Given the description of an element on the screen output the (x, y) to click on. 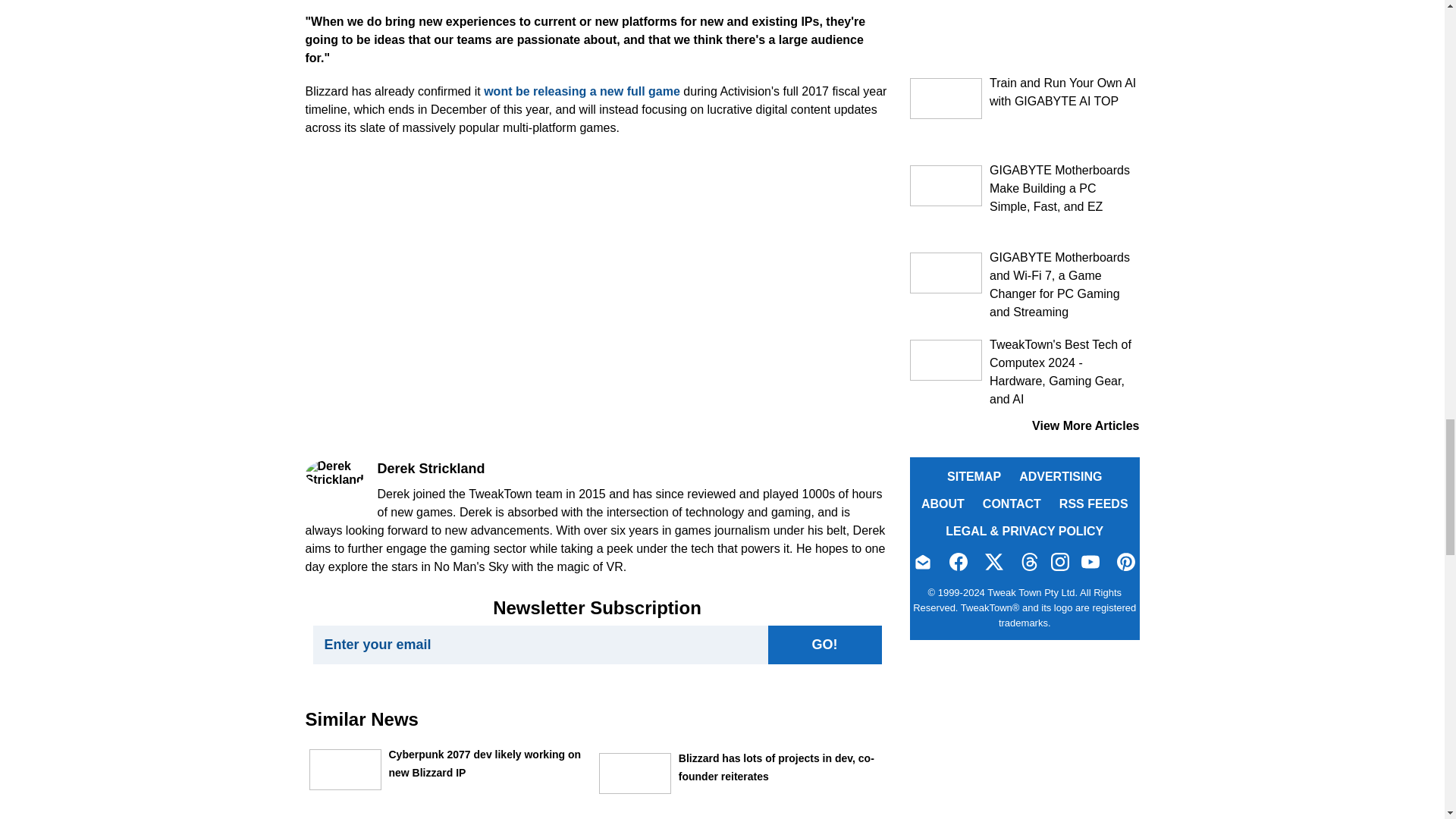
Enter your email (540, 644)
GO! (823, 644)
Submit your email address (823, 644)
Derek Strickland (334, 472)
Blizzard has lots of projects in dev, co-founder reiterates (634, 772)
Cyberpunk 2077 dev likely working on new Blizzard IP (344, 769)
